Given the description of an element on the screen output the (x, y) to click on. 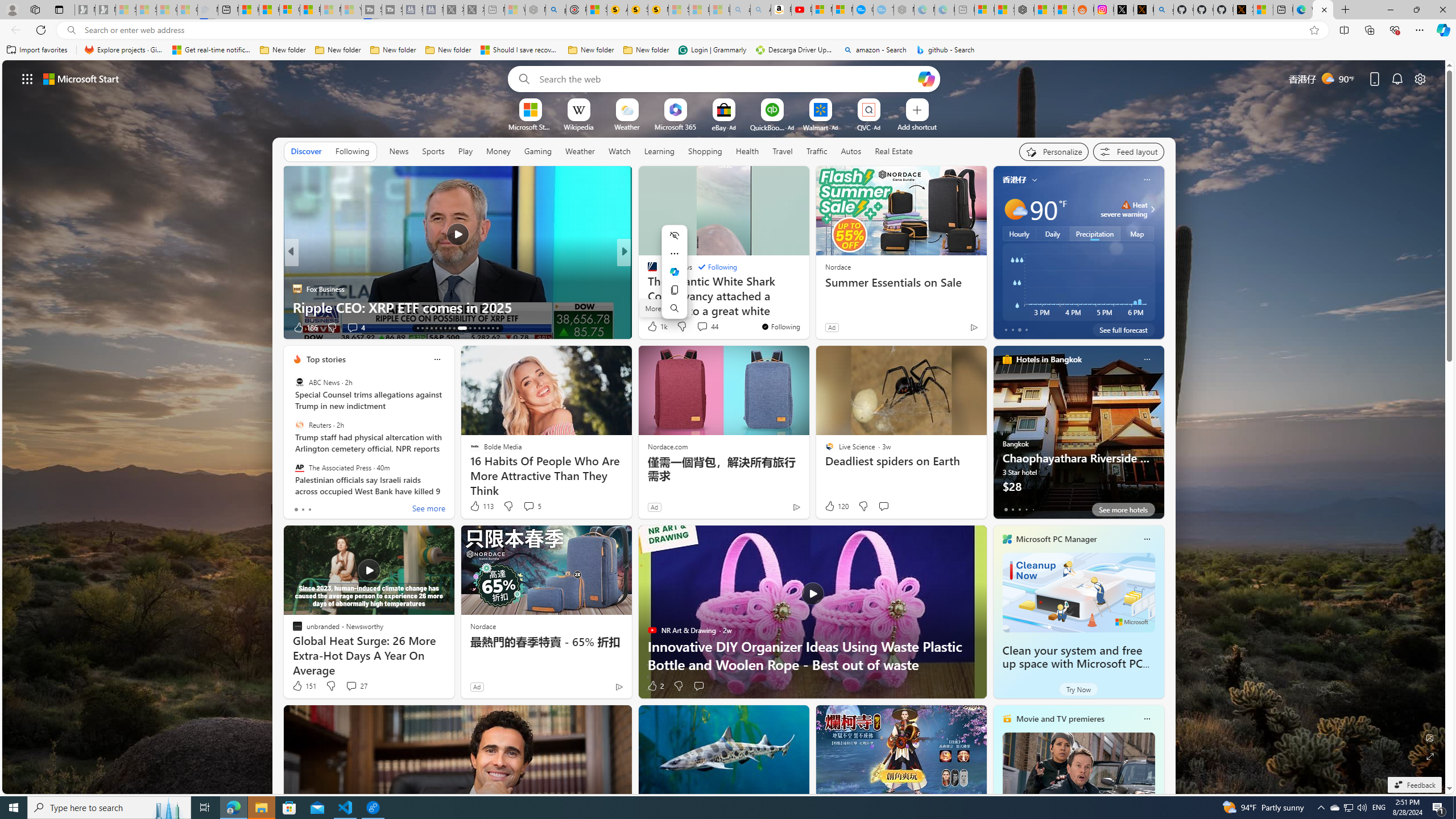
AutomationID: tab-17 (435, 328)
AutomationID: tab-28 (492, 328)
Import favorites (36, 49)
Descarga Driver Updater (794, 49)
Movie and TV premieres (1060, 718)
Summer Essentials on Sale (900, 282)
View comments 1 Comment (705, 327)
1k Like (656, 326)
Money (497, 151)
Heat - Severe (1126, 204)
View comments 191 Comment (6, 327)
